Given the description of an element on the screen output the (x, y) to click on. 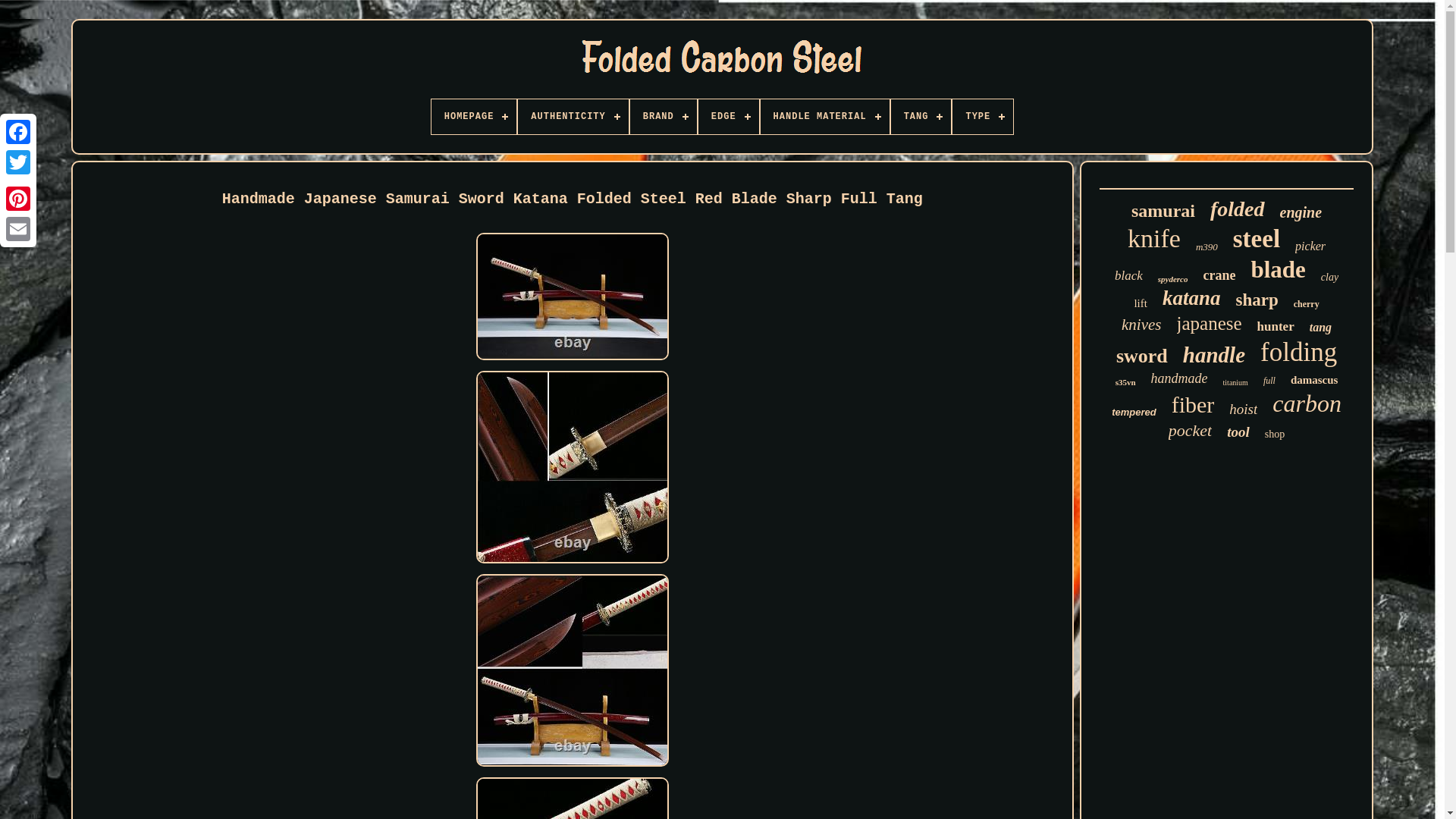
EDGE (728, 116)
BRAND (663, 116)
HOMEPAGE (473, 116)
AUTHENTICITY (572, 116)
